Given the description of an element on the screen output the (x, y) to click on. 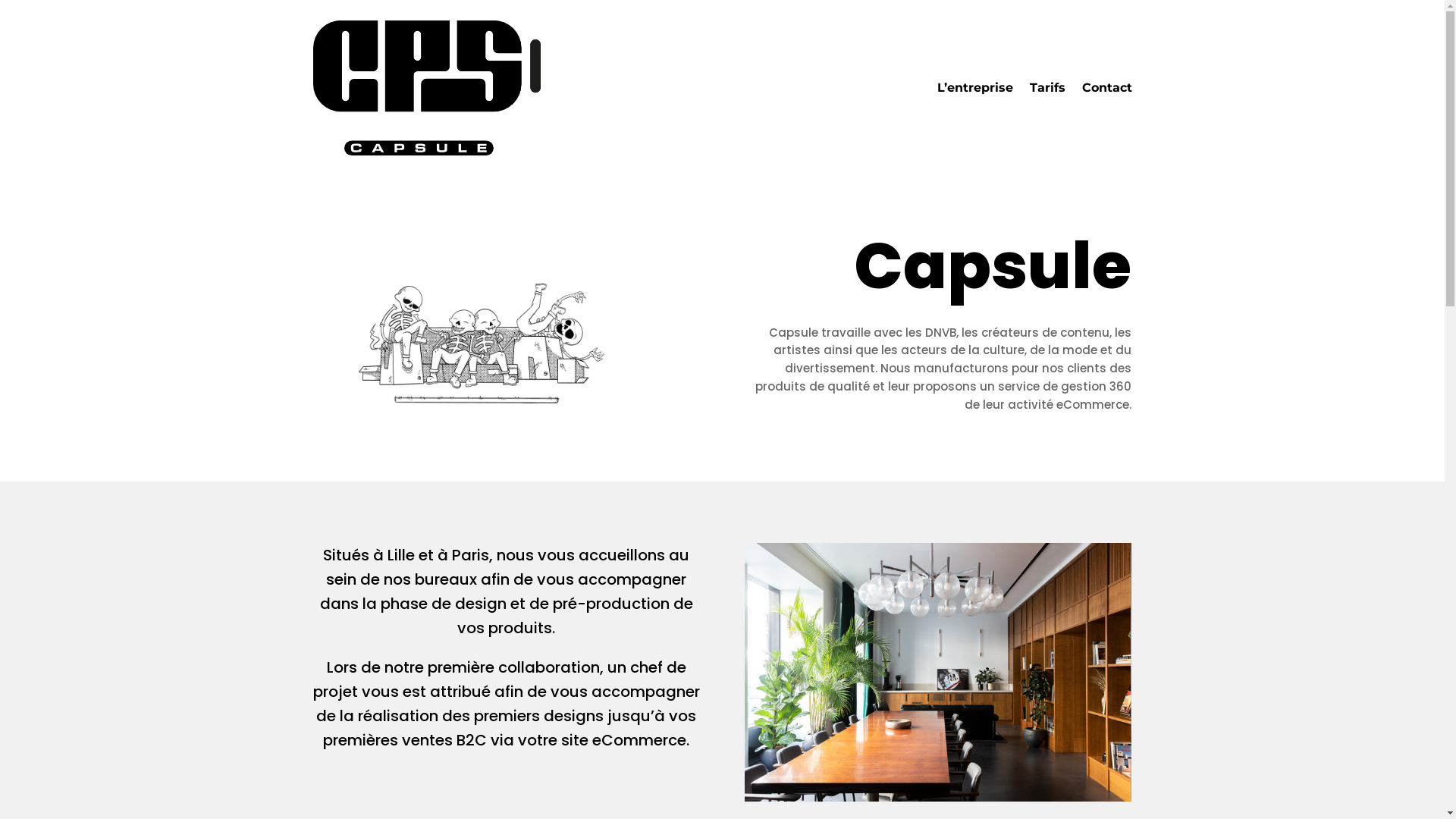
Contact Element type: text (1106, 87)
Tarifs Element type: text (1047, 87)
Groupe Element type: hover (476, 328)
The+Bureau-5 Element type: hover (937, 671)
